Given the description of an element on the screen output the (x, y) to click on. 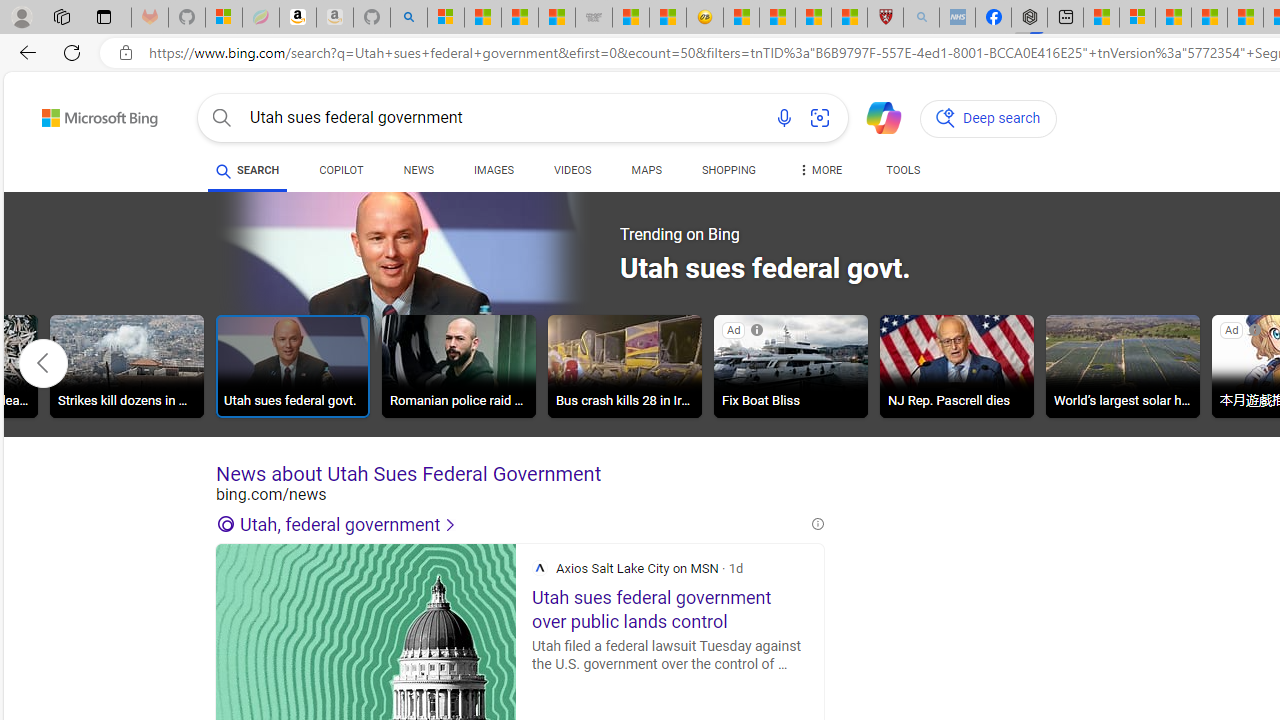
News about Utah Sues Federal Government (520, 474)
Search button (221, 117)
Fix Boat Bliss (790, 365)
Romanian police raid home (458, 365)
AutomationID: tob_left_arrow (43, 363)
Strikes kill dozens in Gaza (126, 369)
Bus crash kills 28 in Iran (624, 365)
